Given the description of an element on the screen output the (x, y) to click on. 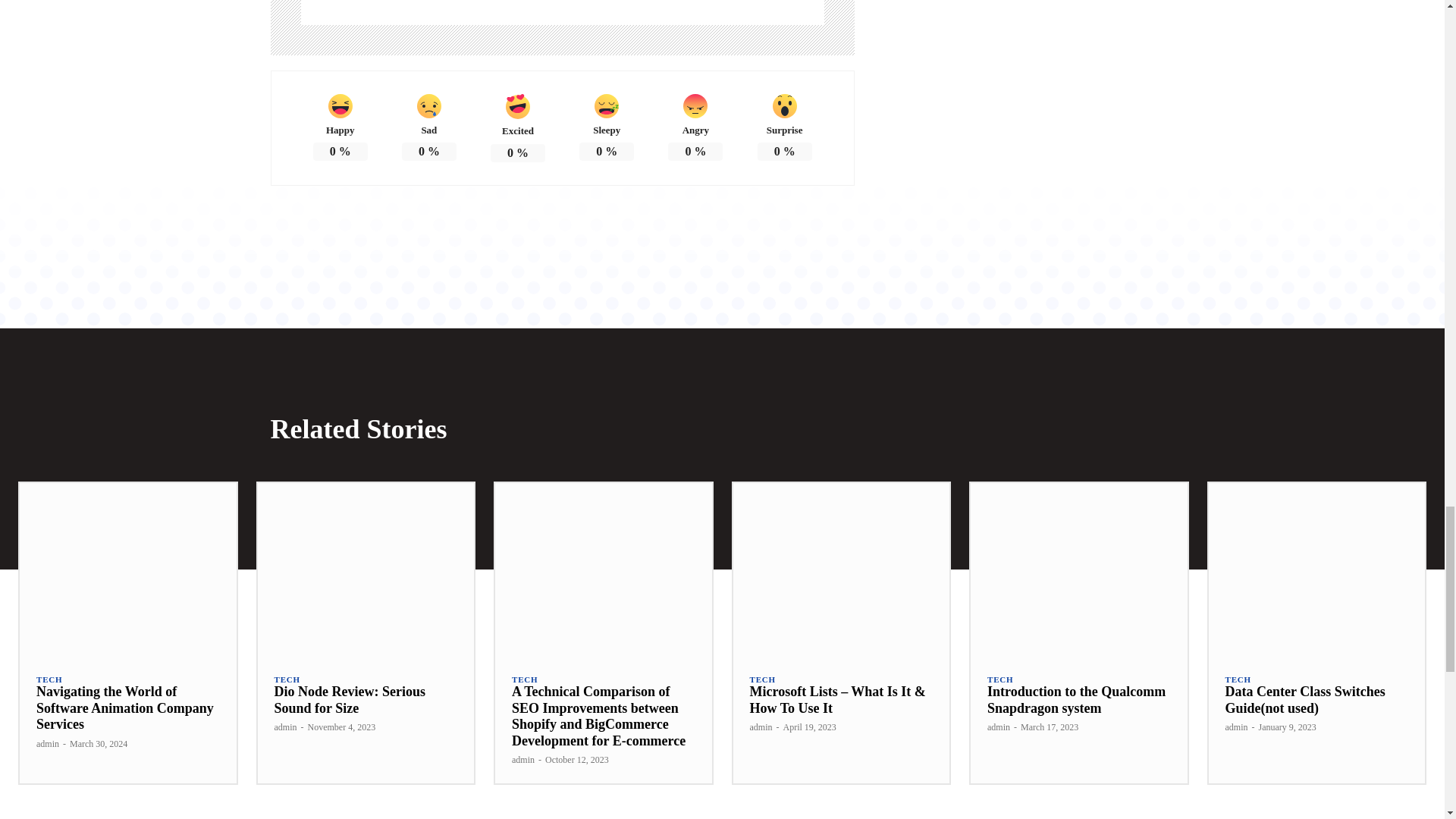
Navigating the World of Software Animation Company Services (127, 569)
Navigating the World of Software Animation Company Services (125, 707)
